Given the description of an element on the screen output the (x, y) to click on. 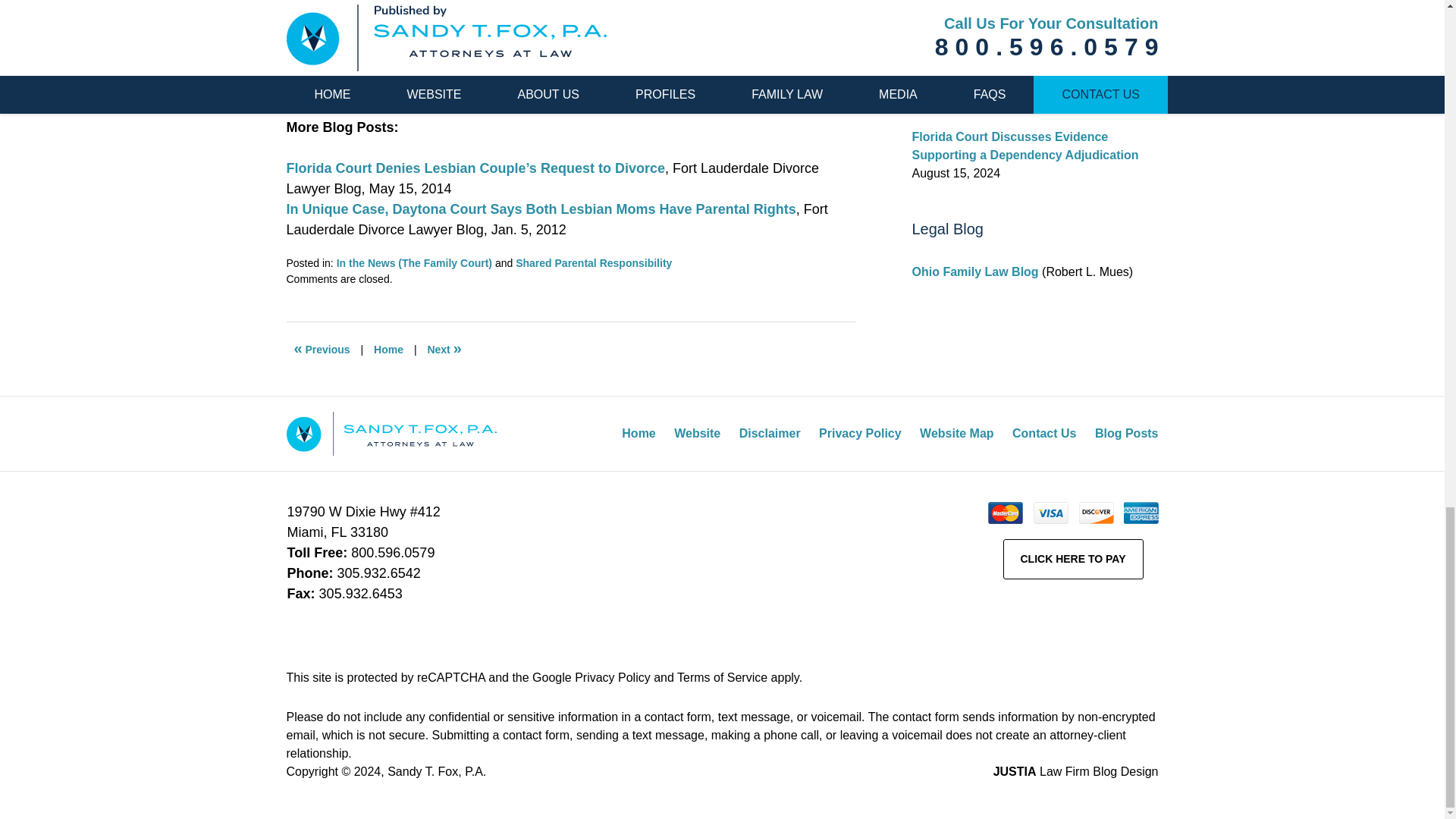
Shared Parental Responsibility (593, 263)
Home (388, 349)
View all posts in Shared Parental Responsibility (593, 263)
family law (660, 6)
